Given the description of an element on the screen output the (x, y) to click on. 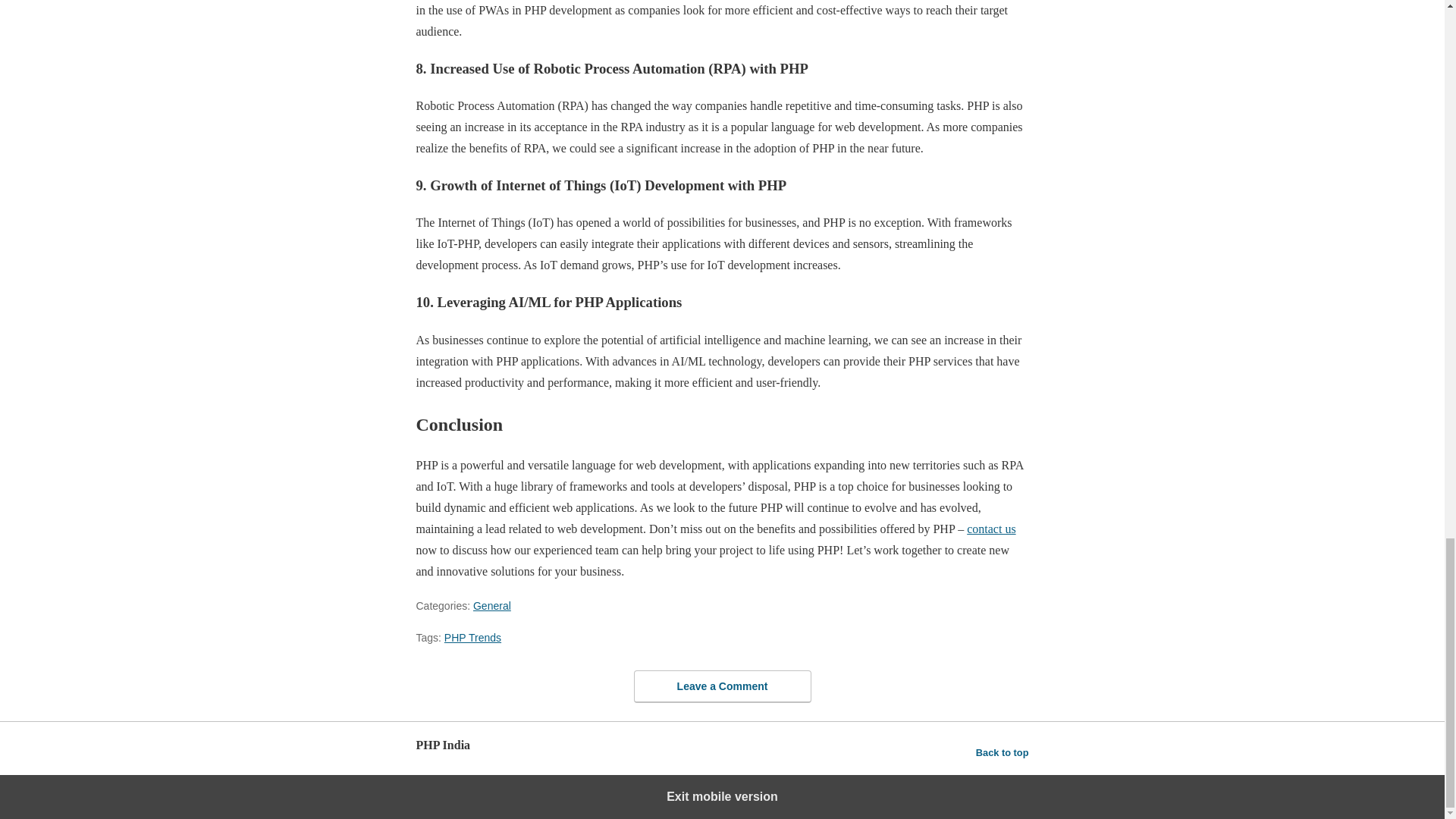
Back to top (1002, 752)
contact us (990, 528)
Leave a Comment (721, 686)
PHP Trends (472, 637)
General (492, 605)
